Given the description of an element on the screen output the (x, y) to click on. 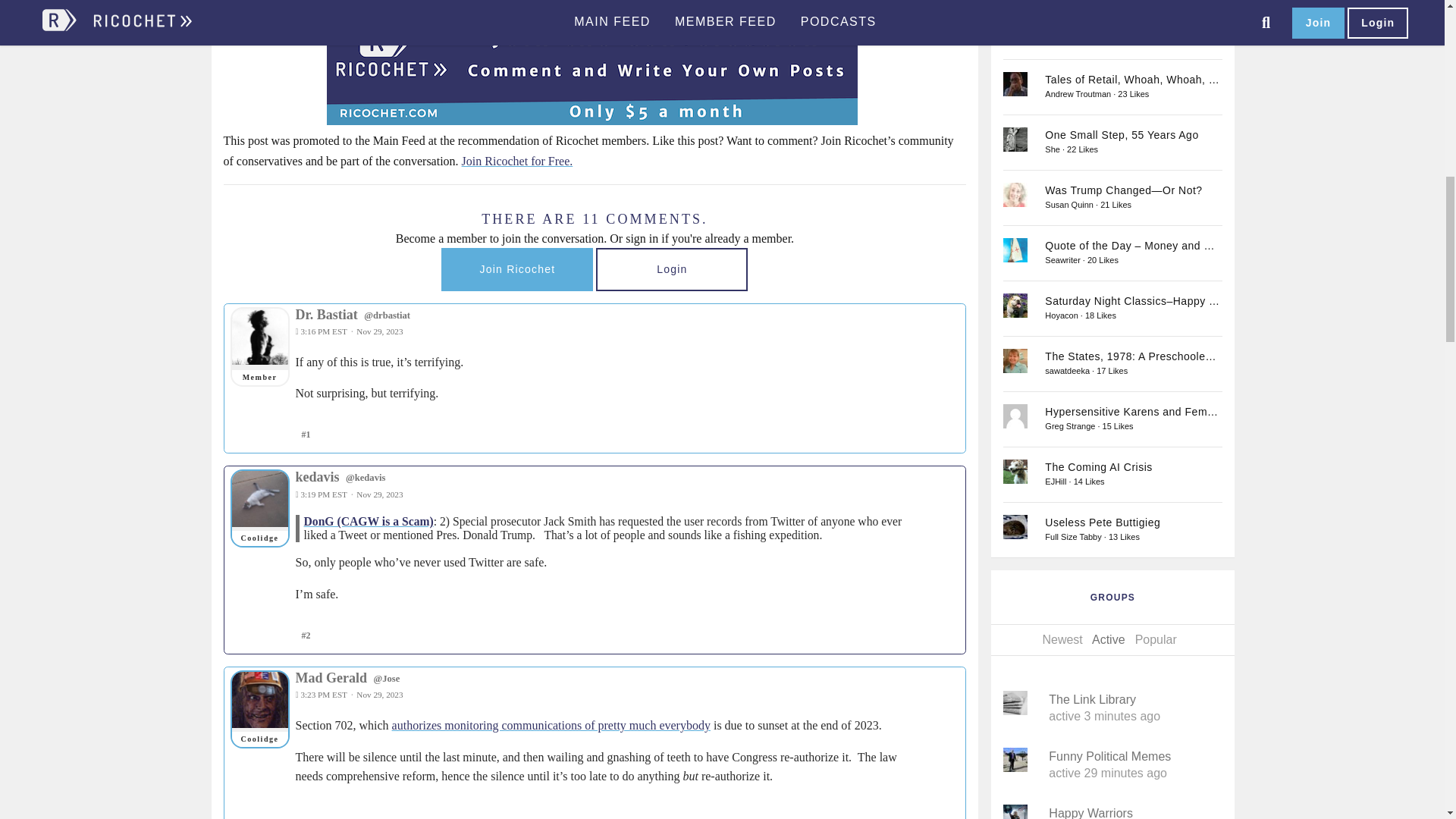
Mad Gerald (259, 699)
kedavis (259, 498)
Dr. Bastiat (259, 336)
